Given the description of an element on the screen output the (x, y) to click on. 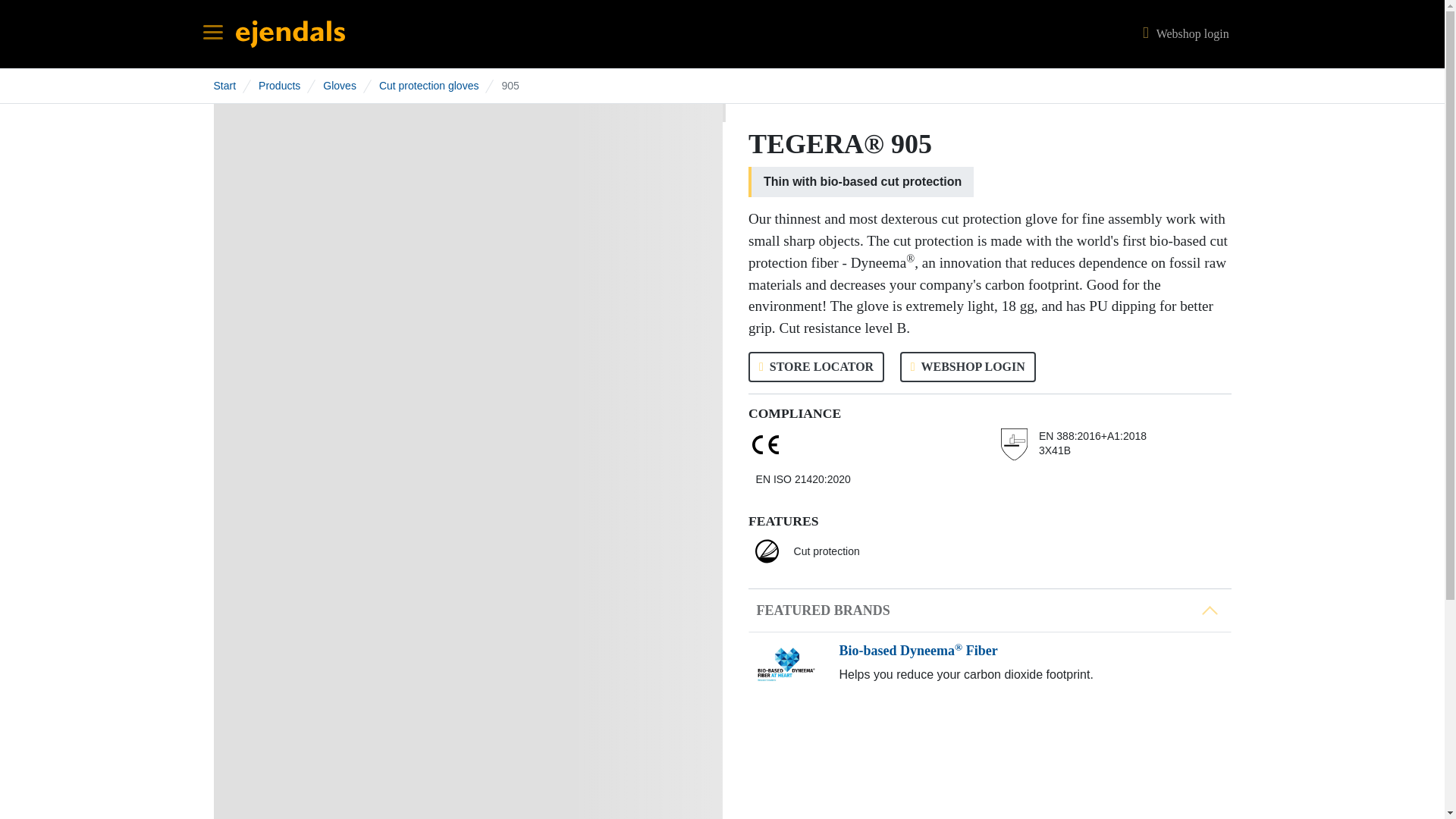
WEBSHOP LOGIN (967, 367)
STORE LOCATOR (815, 367)
Cut protection gloves (428, 85)
Gloves (339, 85)
Start page (288, 32)
FEATURED BRANDS (989, 610)
Start (224, 85)
Products (279, 85)
Webshop login (1183, 33)
